Given the description of an element on the screen output the (x, y) to click on. 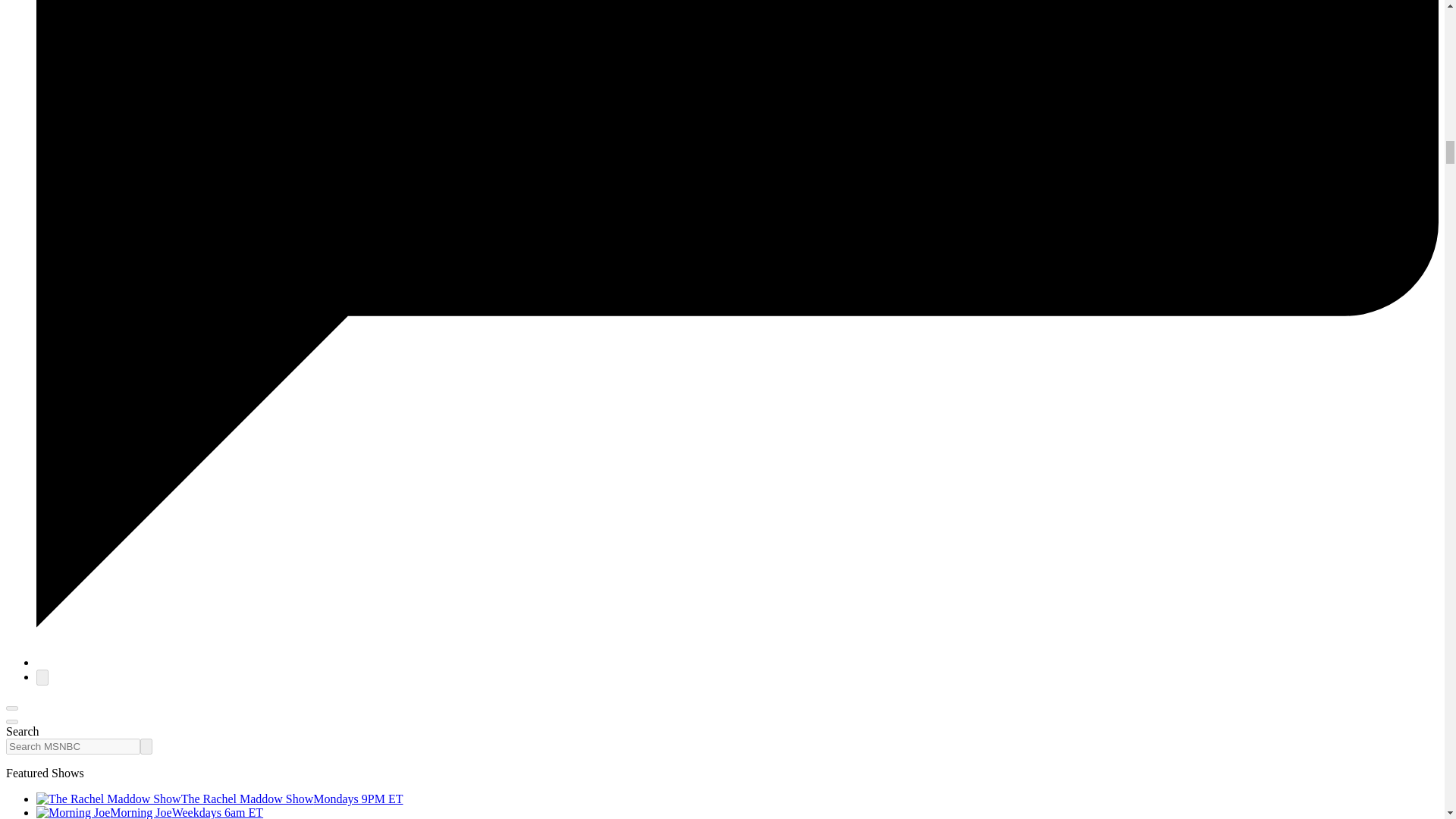
Morning JoeWeekdays 6am ET (149, 812)
The Rachel Maddow ShowMondays 9PM ET (219, 798)
